Given the description of an element on the screen output the (x, y) to click on. 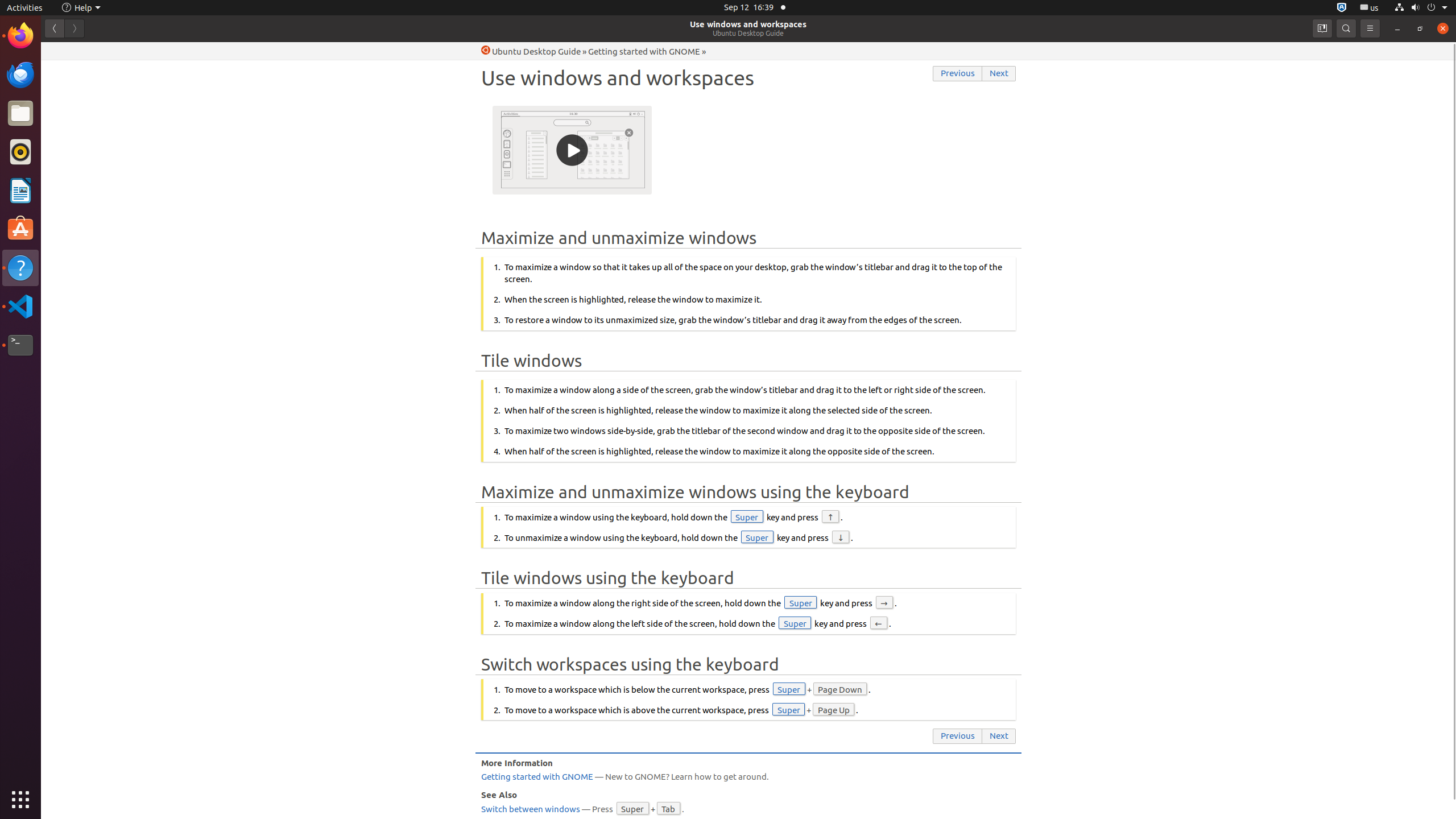
Terminal Element type: push-button (20, 344)
Restore Element type: push-button (1419, 27)
Next Element type: link (999, 73)
